Given the description of an element on the screen output the (x, y) to click on. 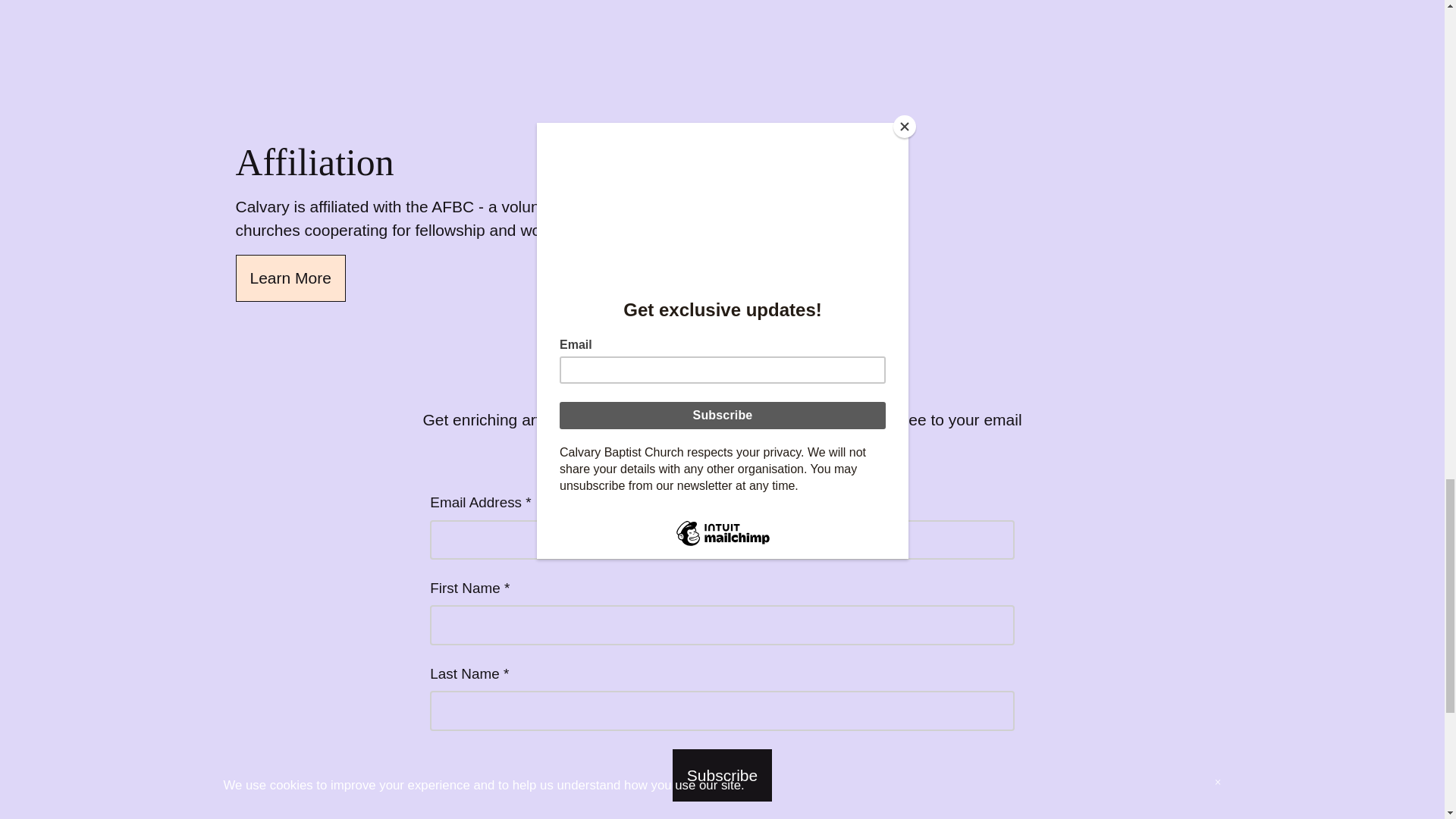
Learn More (289, 278)
Subscribe (721, 775)
